Given the description of an element on the screen output the (x, y) to click on. 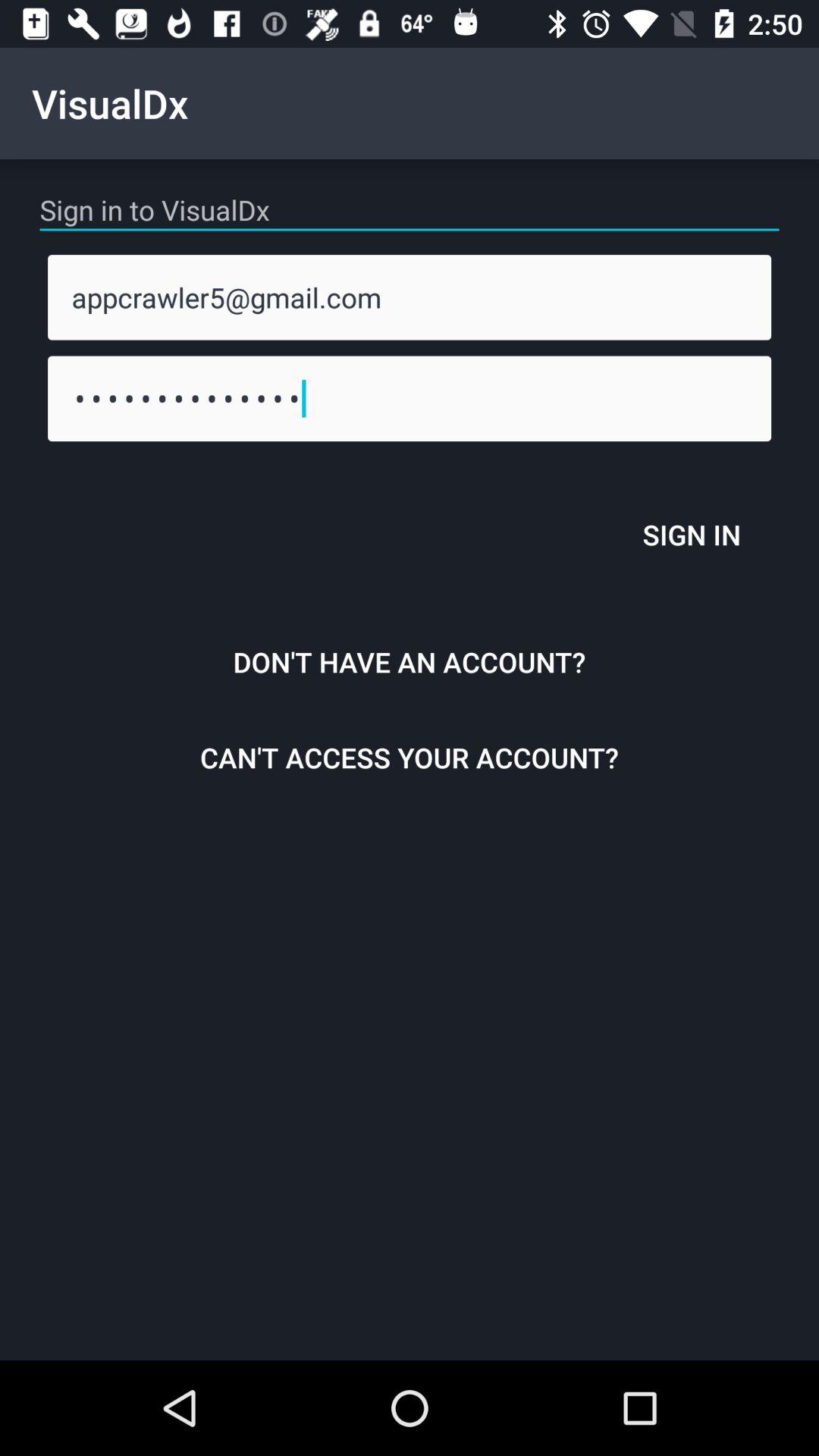
launch appcrawler5@gmail.com item (409, 297)
